Given the description of an element on the screen output the (x, y) to click on. 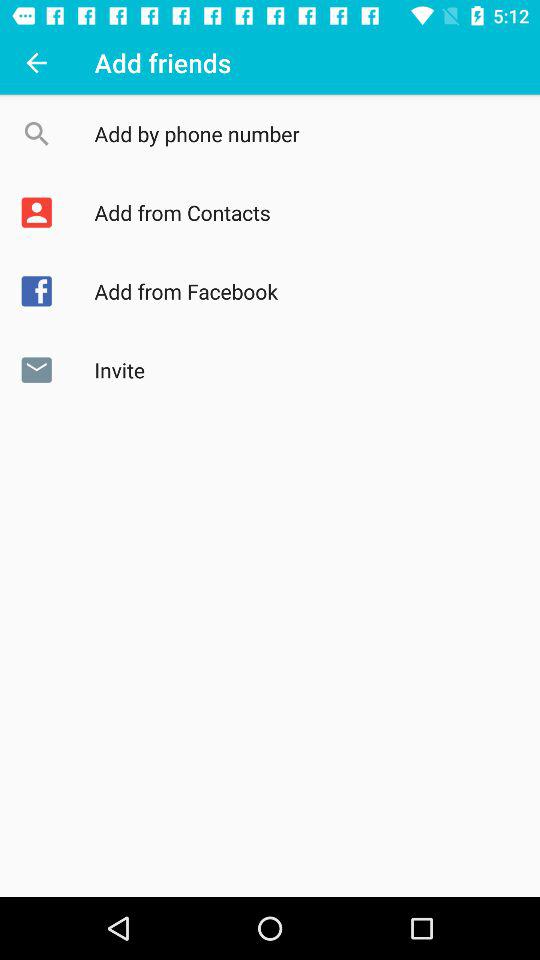
click the icon to the left of the add friends icon (36, 62)
